Given the description of an element on the screen output the (x, y) to click on. 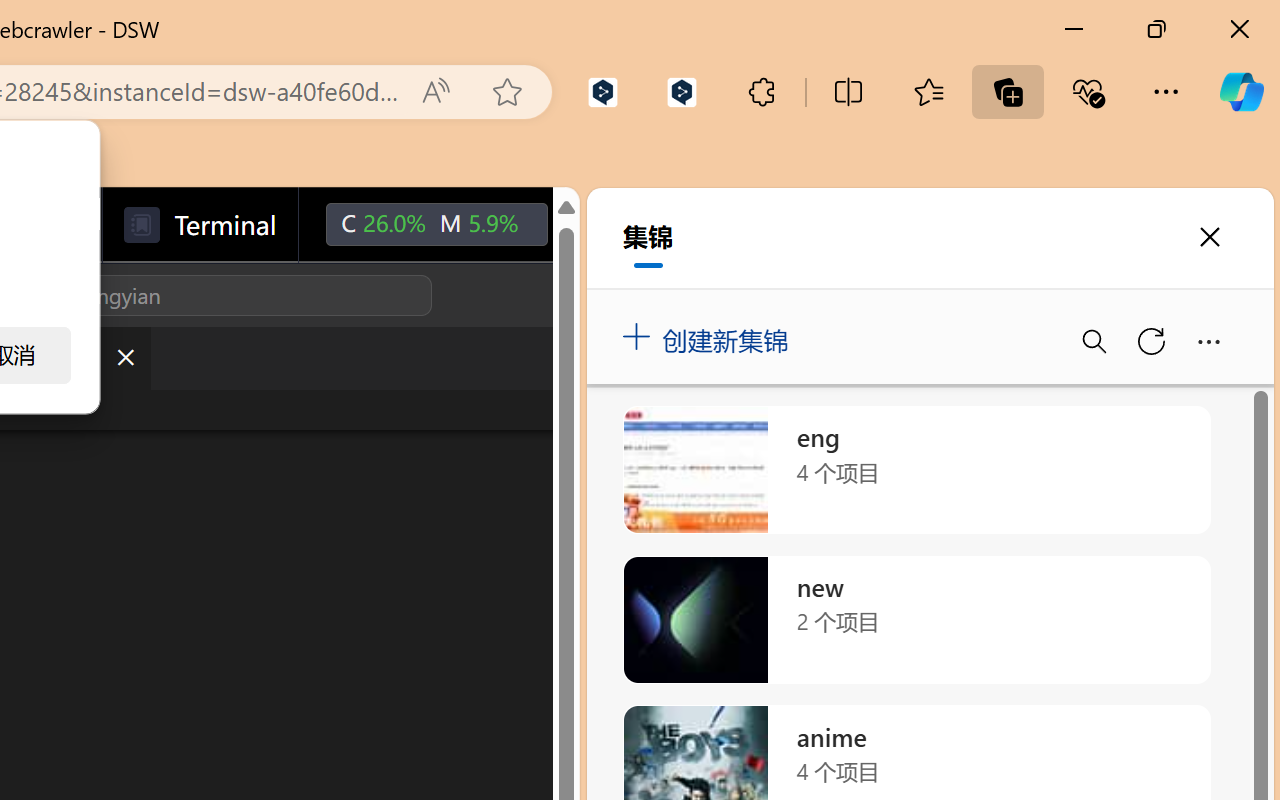
icon (591, 220)
Class: next-menu next-hoz widgets--iconMenu--BFkiHRM (591, 225)
